Given the description of an element on the screen output the (x, y) to click on. 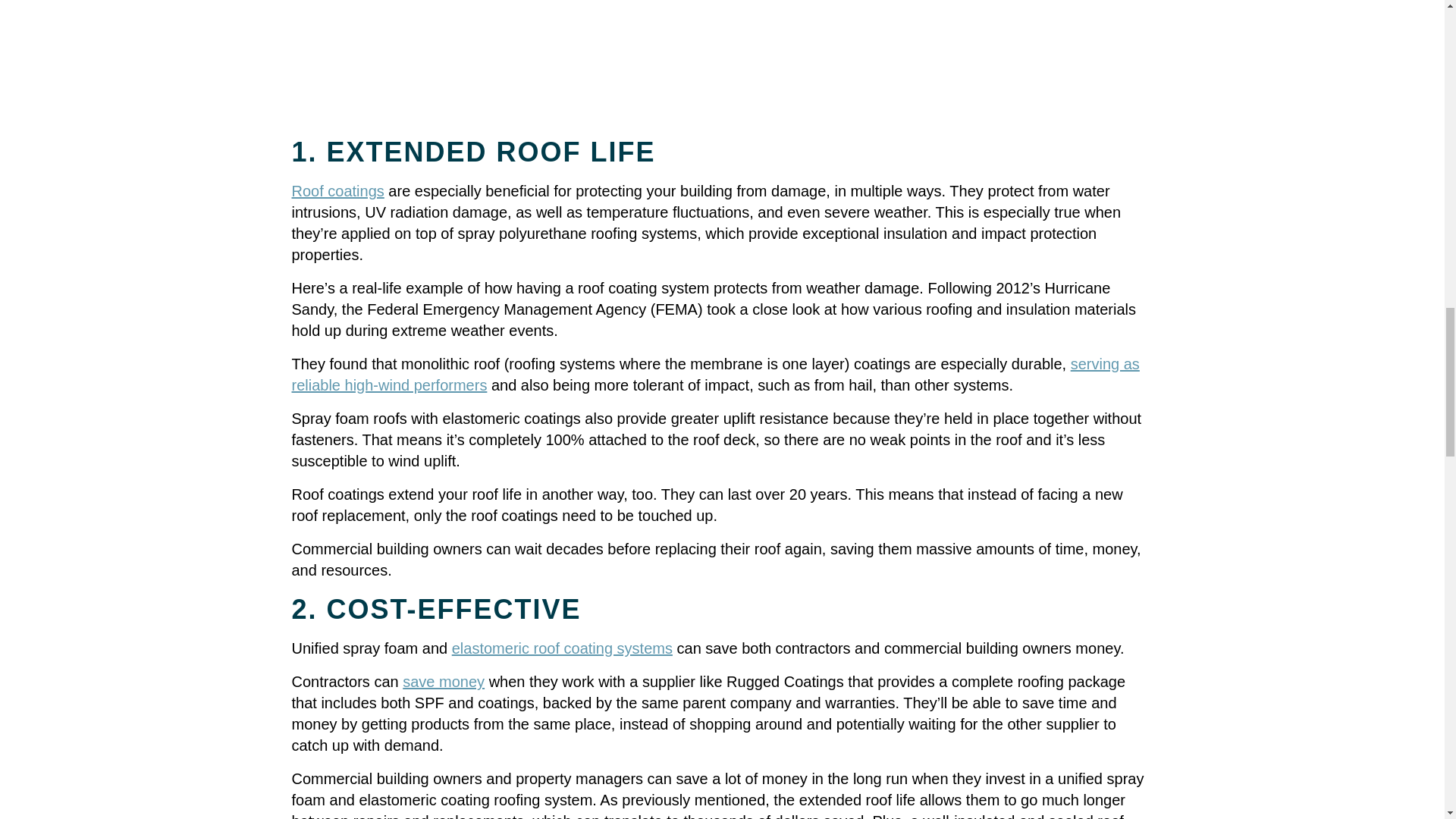
Roof coatings (337, 190)
save money (443, 681)
serving as reliable high-wind performers (714, 374)
elastomeric roof coating systems (561, 647)
